Given the description of an element on the screen output the (x, y) to click on. 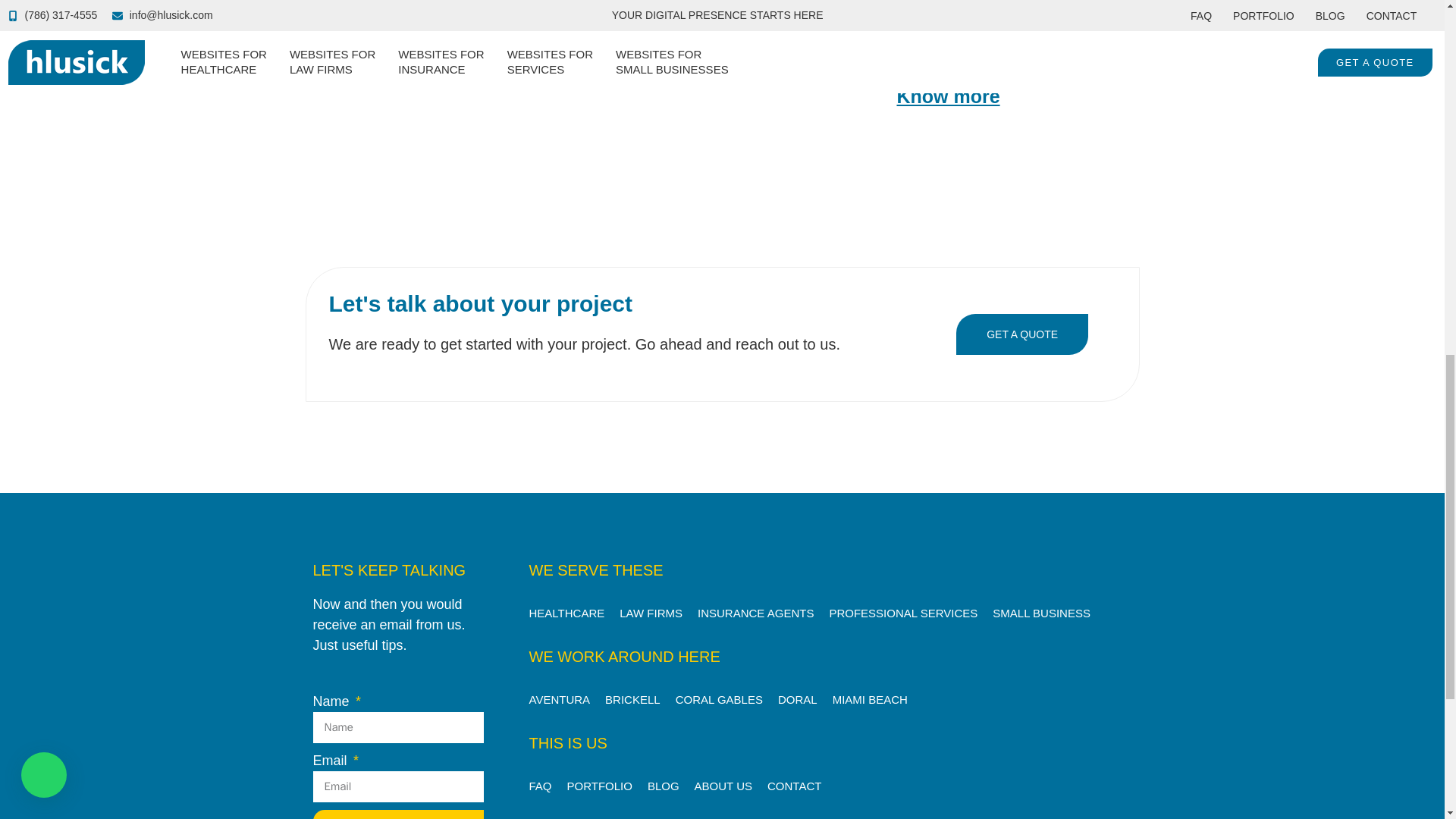
Scroll back to top (1406, 720)
